Given the description of an element on the screen output the (x, y) to click on. 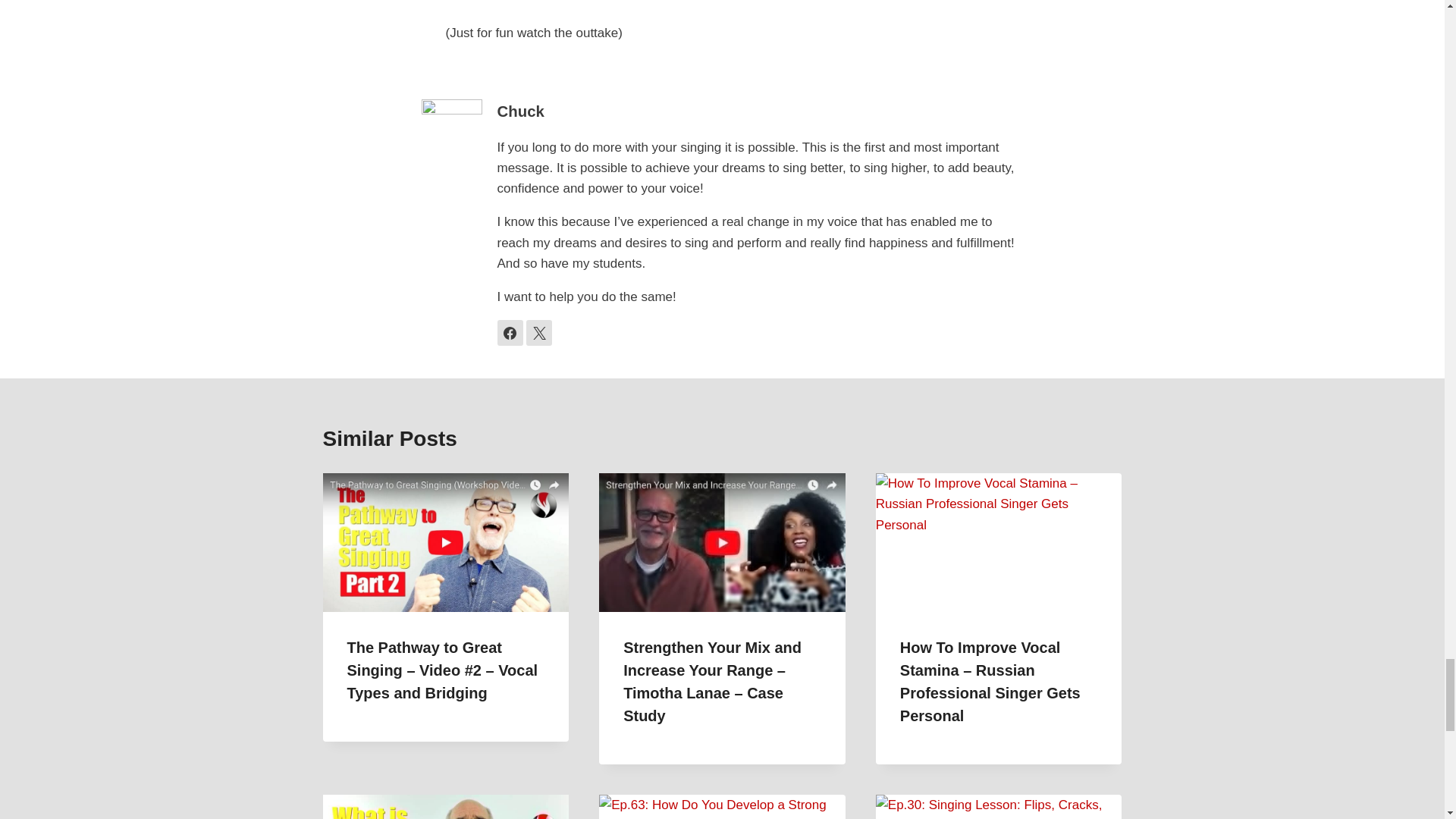
Follow Chuck on Facebook (509, 332)
Chuck (520, 111)
Posts by Chuck (520, 111)
Follow Chuck on X formerly Twitter (538, 332)
